Given the description of an element on the screen output the (x, y) to click on. 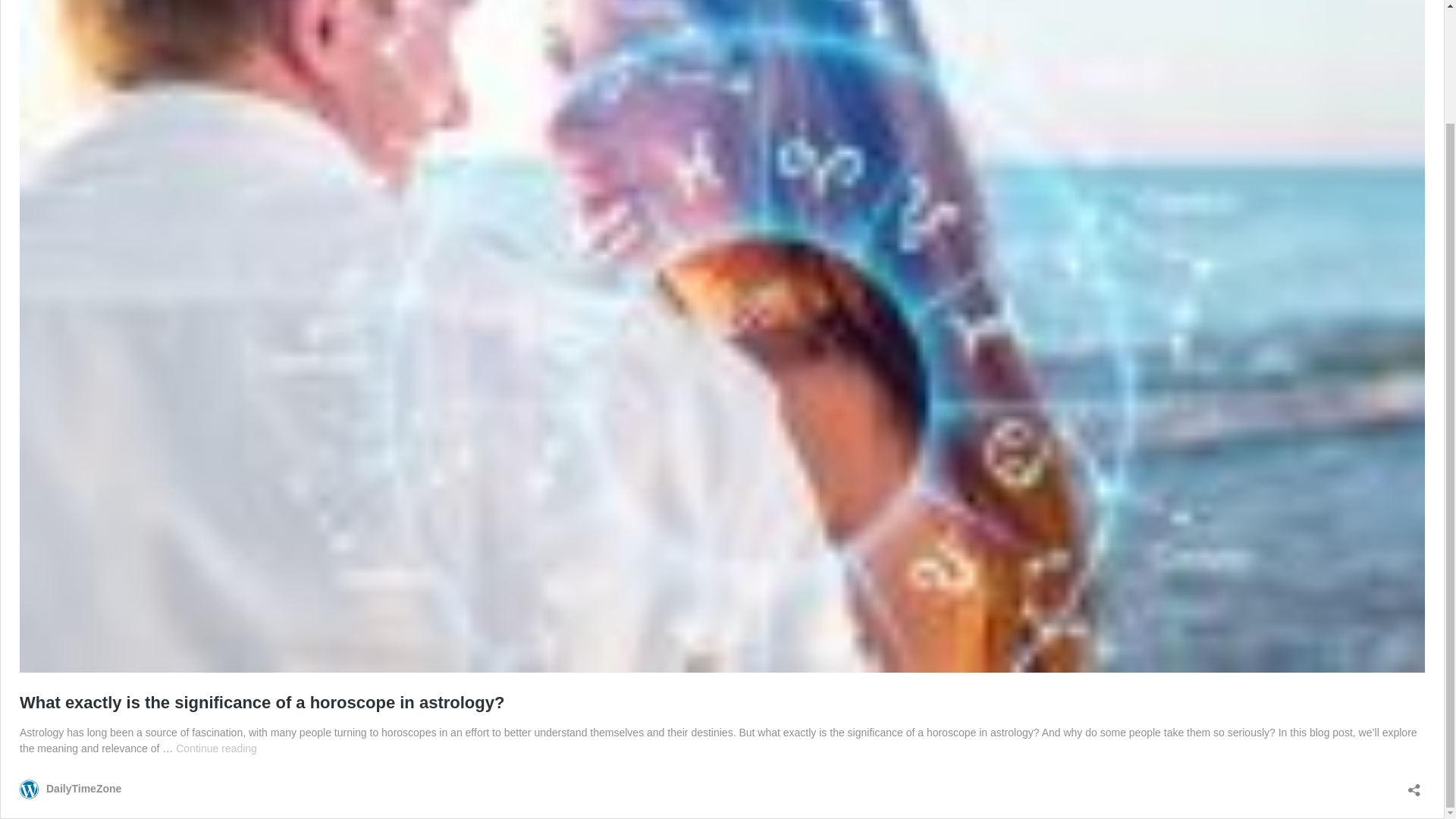
DailyTimeZone (70, 788)
